Given the description of an element on the screen output the (x, y) to click on. 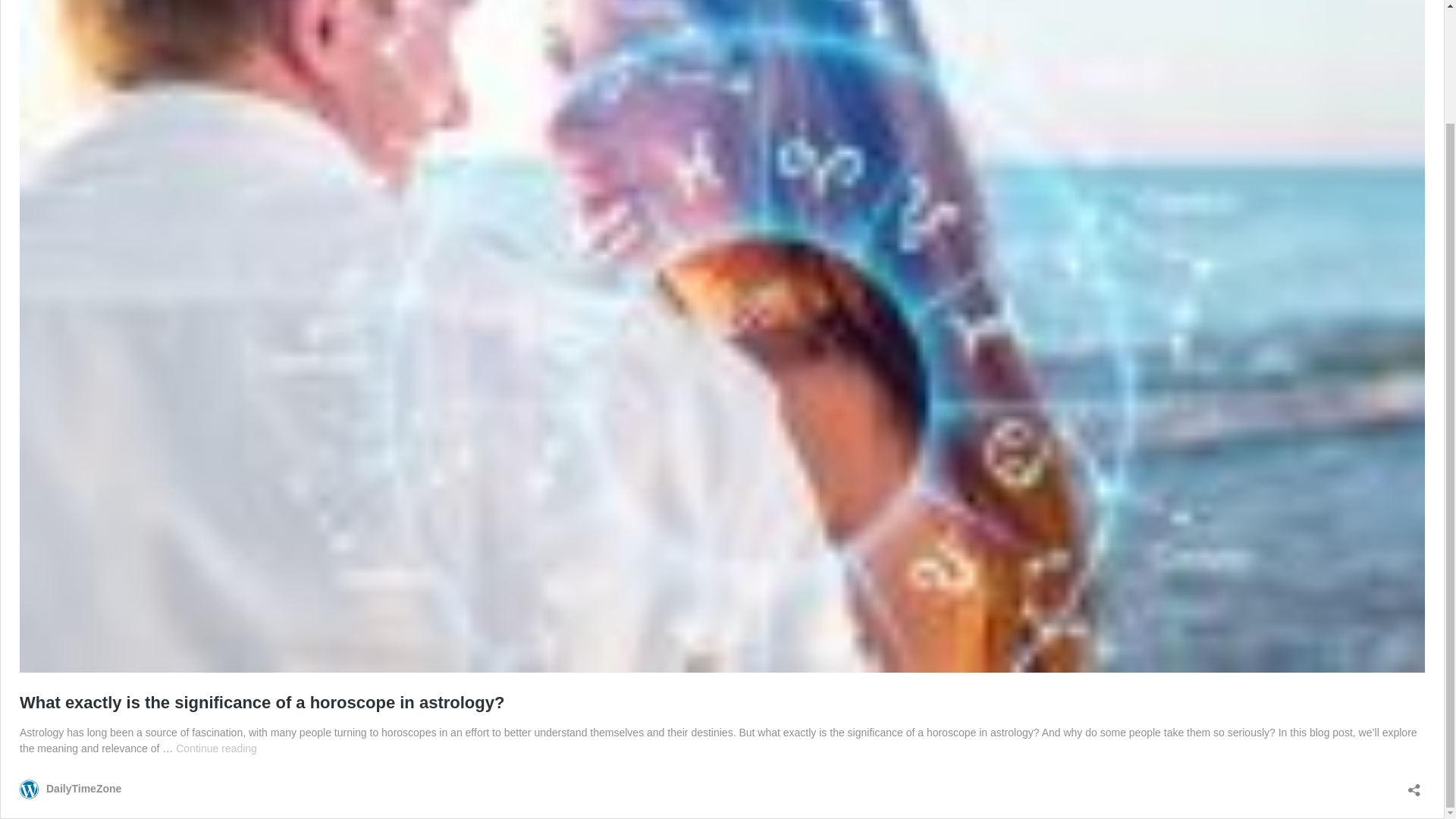
DailyTimeZone (70, 788)
